Given the description of an element on the screen output the (x, y) to click on. 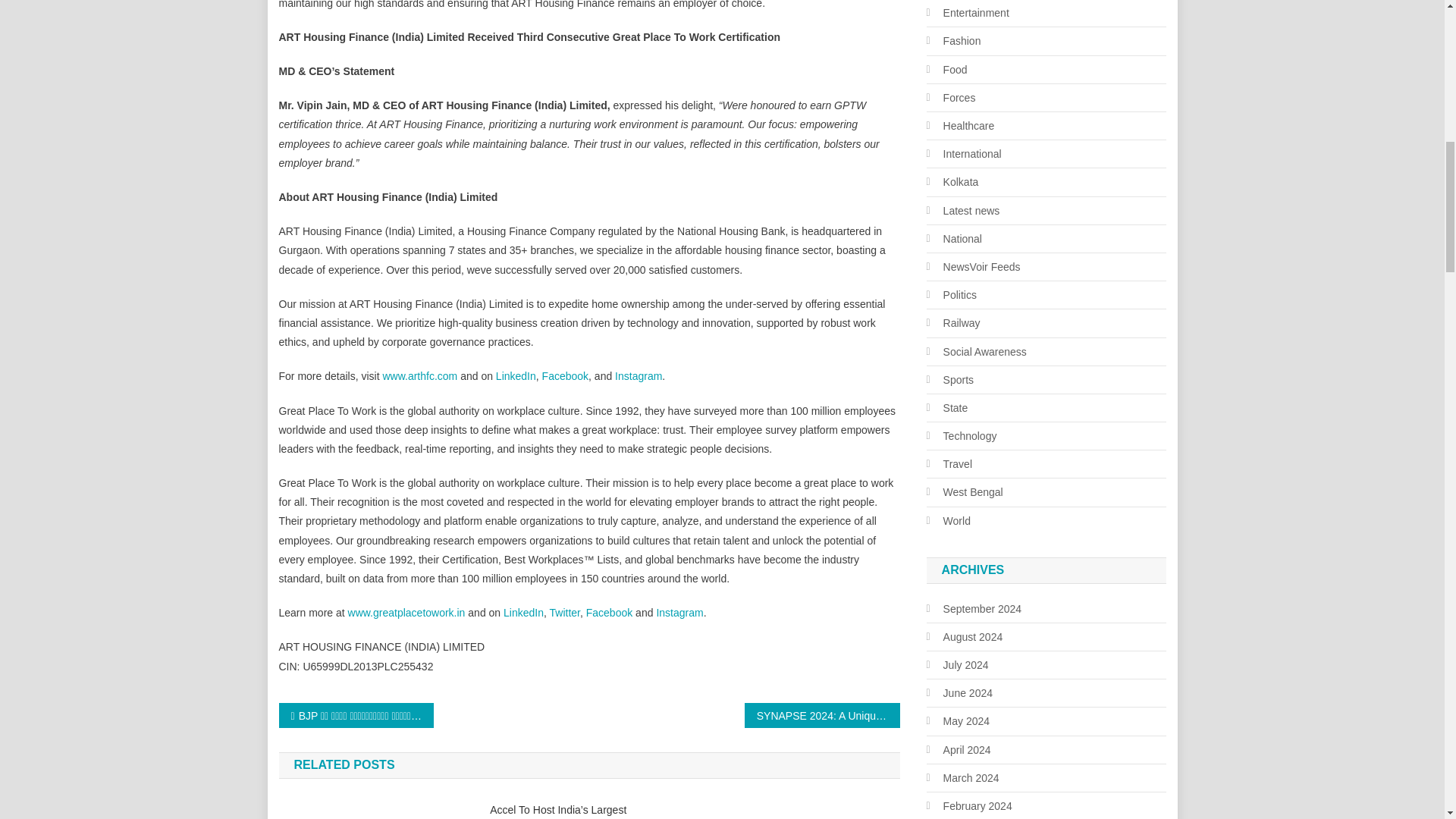
LinkedIn (523, 612)
Facebook (564, 376)
Facebook (608, 612)
Twitter (563, 612)
Instagram (679, 612)
Instagram (638, 376)
www.greatplacetowork.in (406, 612)
www.arthfc.com (419, 376)
LinkedIn (515, 376)
